Given the description of an element on the screen output the (x, y) to click on. 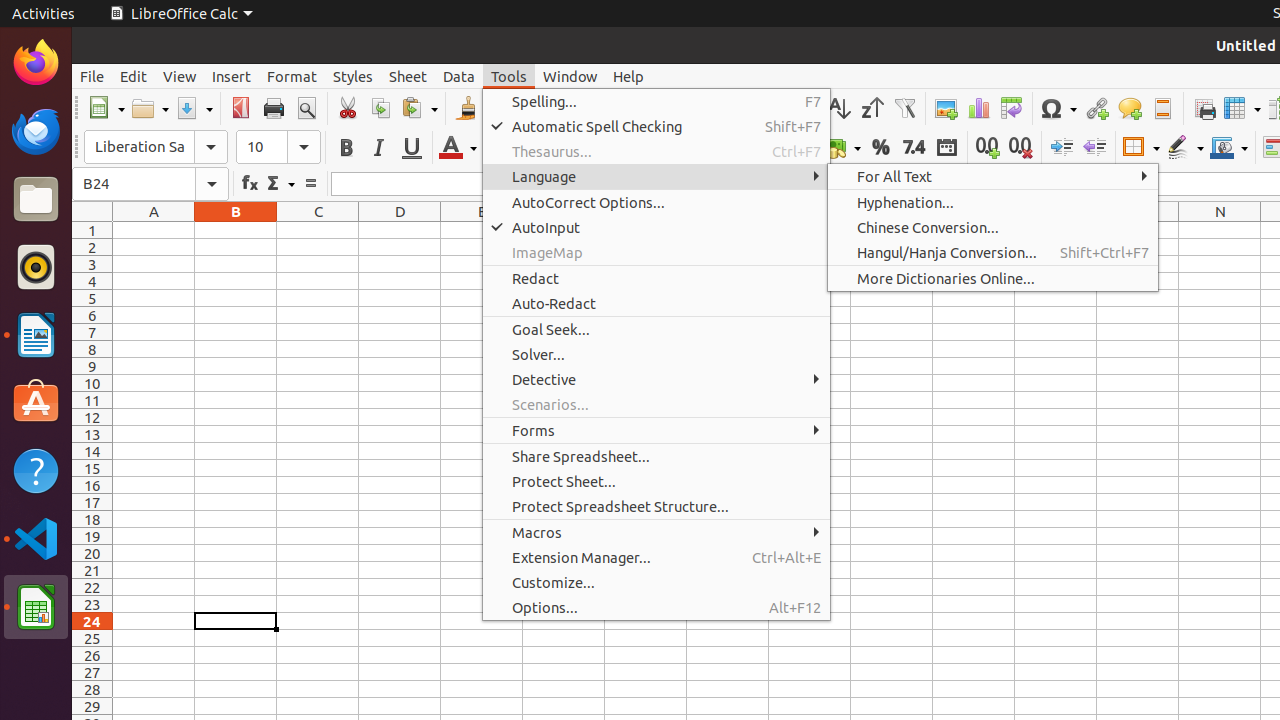
Comment Element type: push-button (1129, 108)
Cut Element type: push-button (347, 108)
Bold Element type: toggle-button (345, 147)
Share Spreadsheet... Element type: menu-item (656, 456)
Trash Element type: label (133, 191)
